Given the description of an element on the screen output the (x, y) to click on. 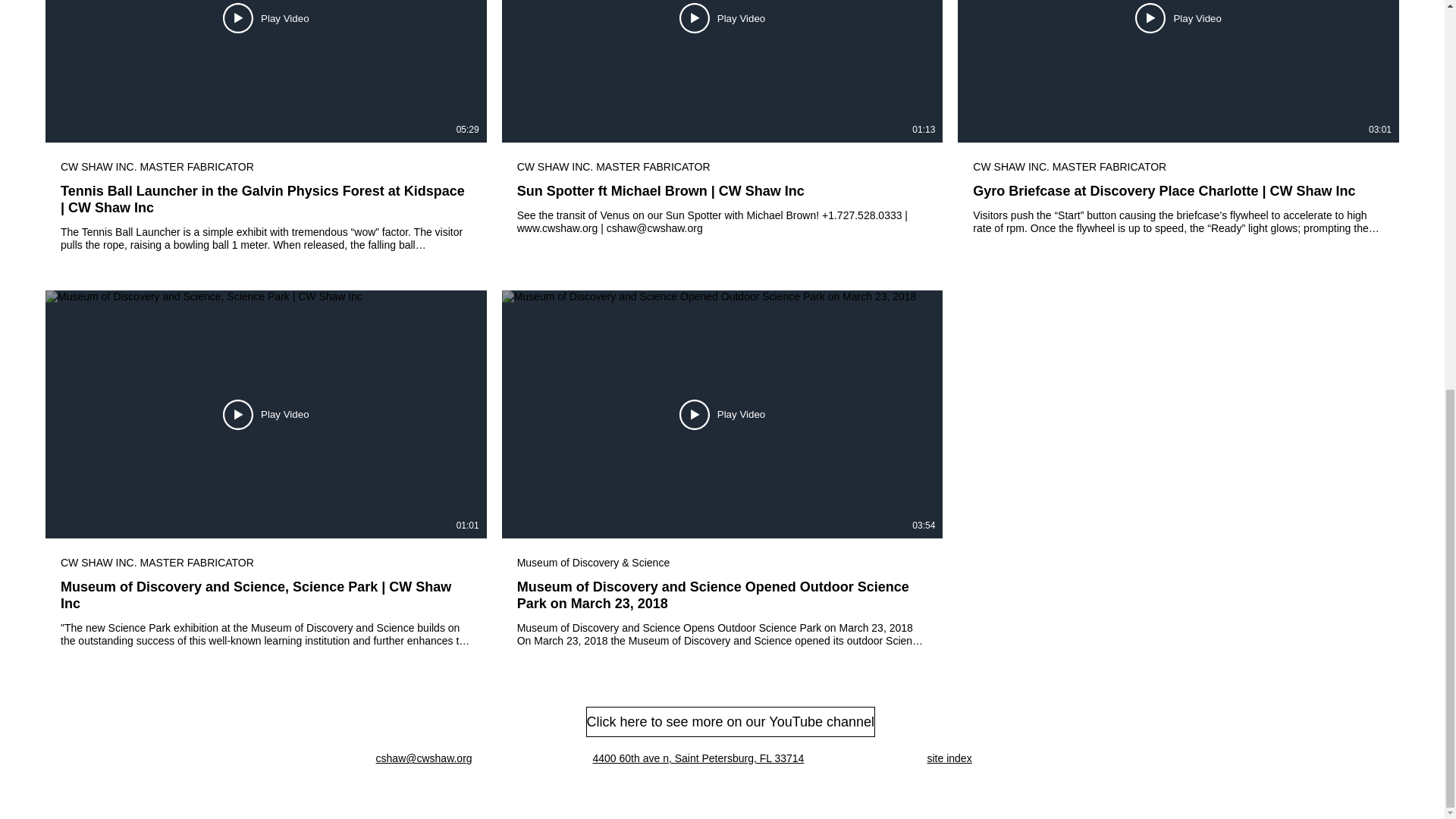
Play Video (1178, 18)
Play Video (265, 413)
4400 60th ave n, Saint Petersburg, FL 33714 (698, 758)
Site Search (1030, 759)
Play Video (265, 18)
Play Video (722, 413)
Play Video (722, 18)
site index (948, 758)
Click here to see more on our YouTube channel (730, 721)
